Given the description of an element on the screen output the (x, y) to click on. 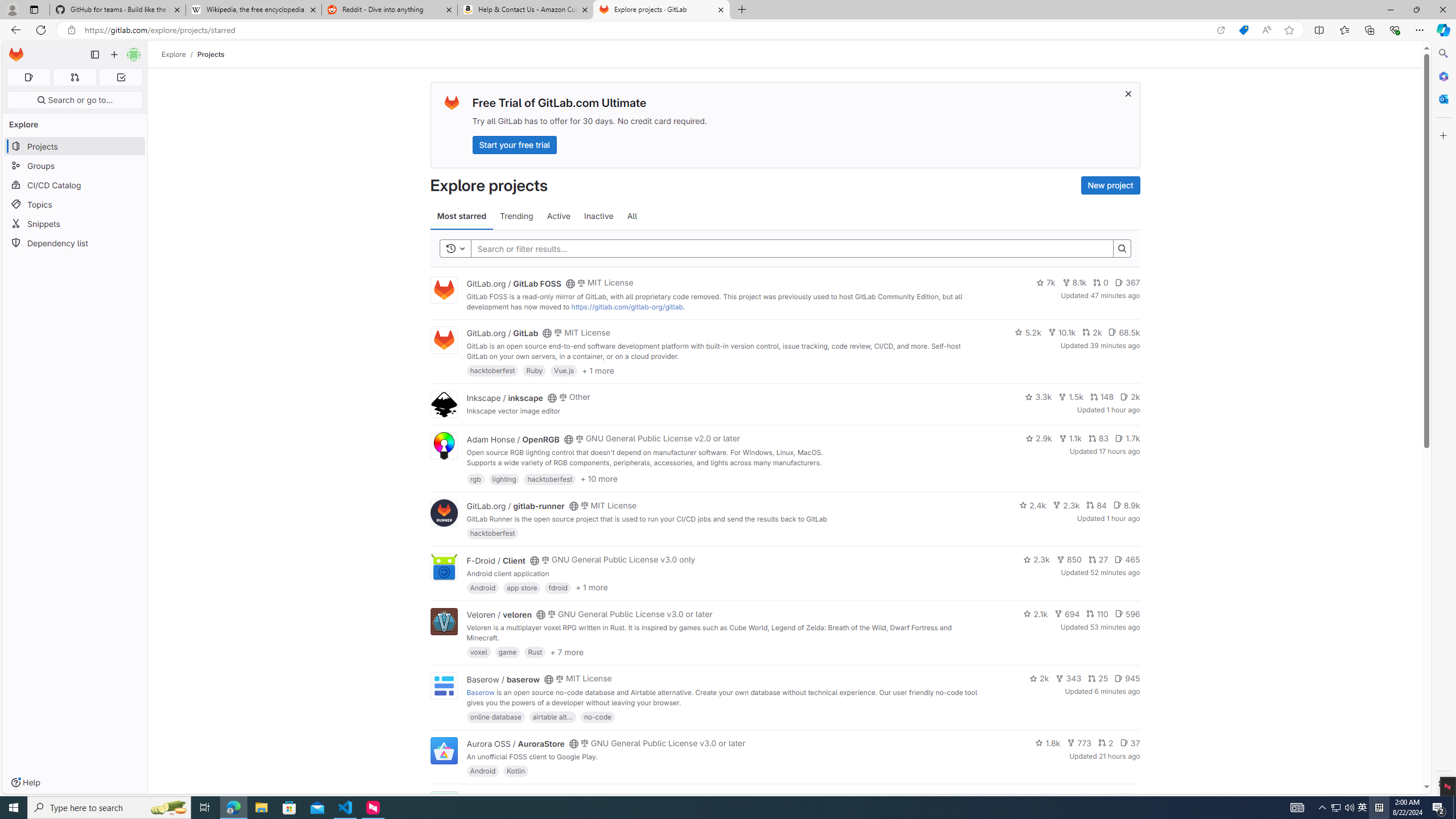
Inkscape / inkscape (504, 397)
https://gitlab.com/gitlab-org/gitlab (626, 306)
app store (521, 587)
F-Droid / Client (495, 560)
Help (25, 782)
F (443, 805)
Dependency list (74, 242)
2.1k (1035, 613)
To-Do list 0 (120, 76)
